Given the description of an element on the screen output the (x, y) to click on. 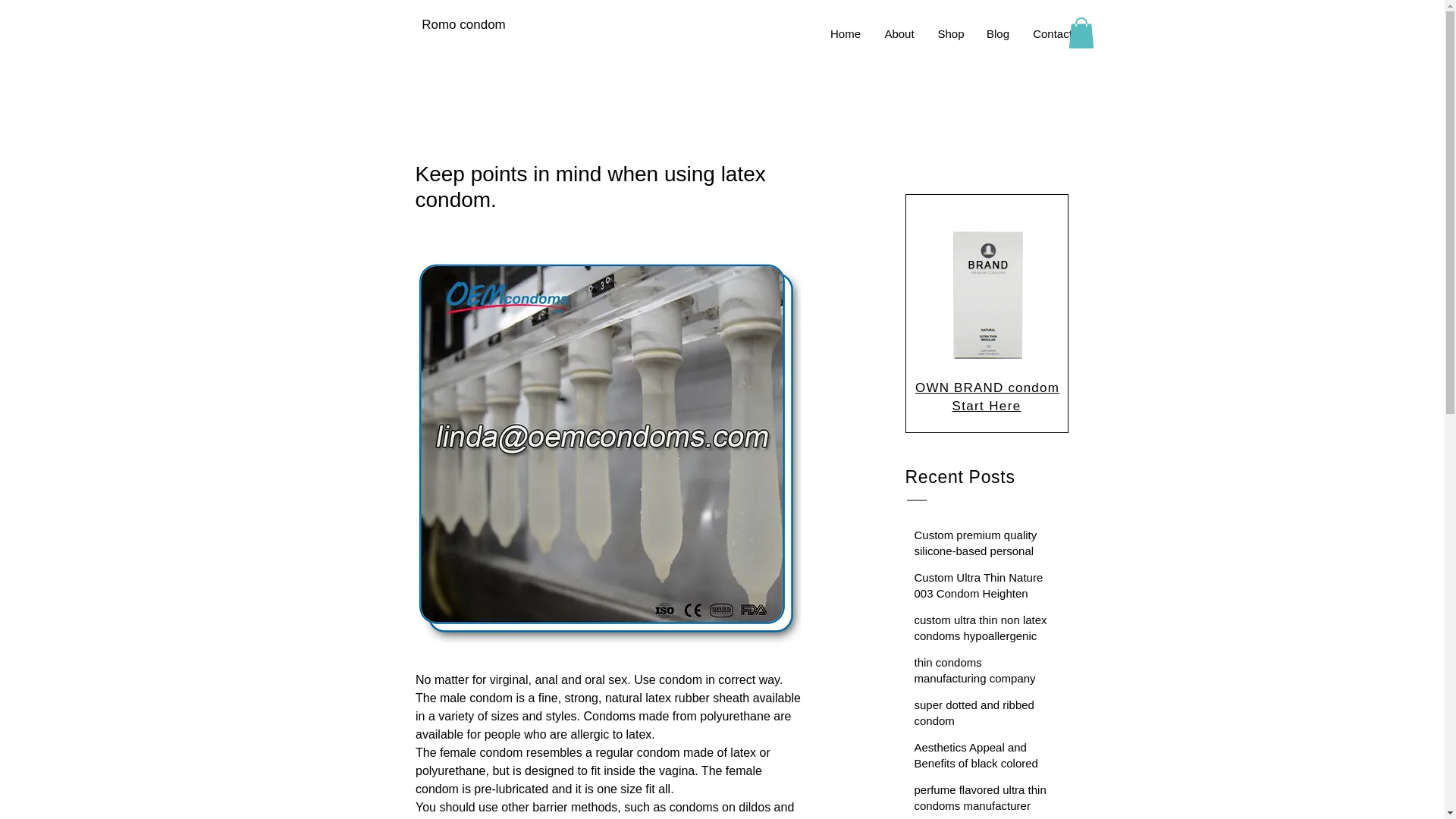
OWN BRAND condom (987, 387)
About (899, 34)
Shop (950, 34)
super dotted and ribbed condom (982, 715)
Romo condom (463, 24)
thin condoms manufacturing company (982, 673)
Home (845, 34)
Custom premium quality silicone-based personal lubricant (982, 553)
perfume flavored ultra thin condoms manufacturer (982, 800)
Start Here (986, 405)
Aesthetics Appeal and Benefits of black colored condom (982, 766)
Custom Ultra Thin Nature 003 Condom Heighten Sensation (982, 596)
Blog (998, 34)
Contact (1051, 34)
